Given the description of an element on the screen output the (x, y) to click on. 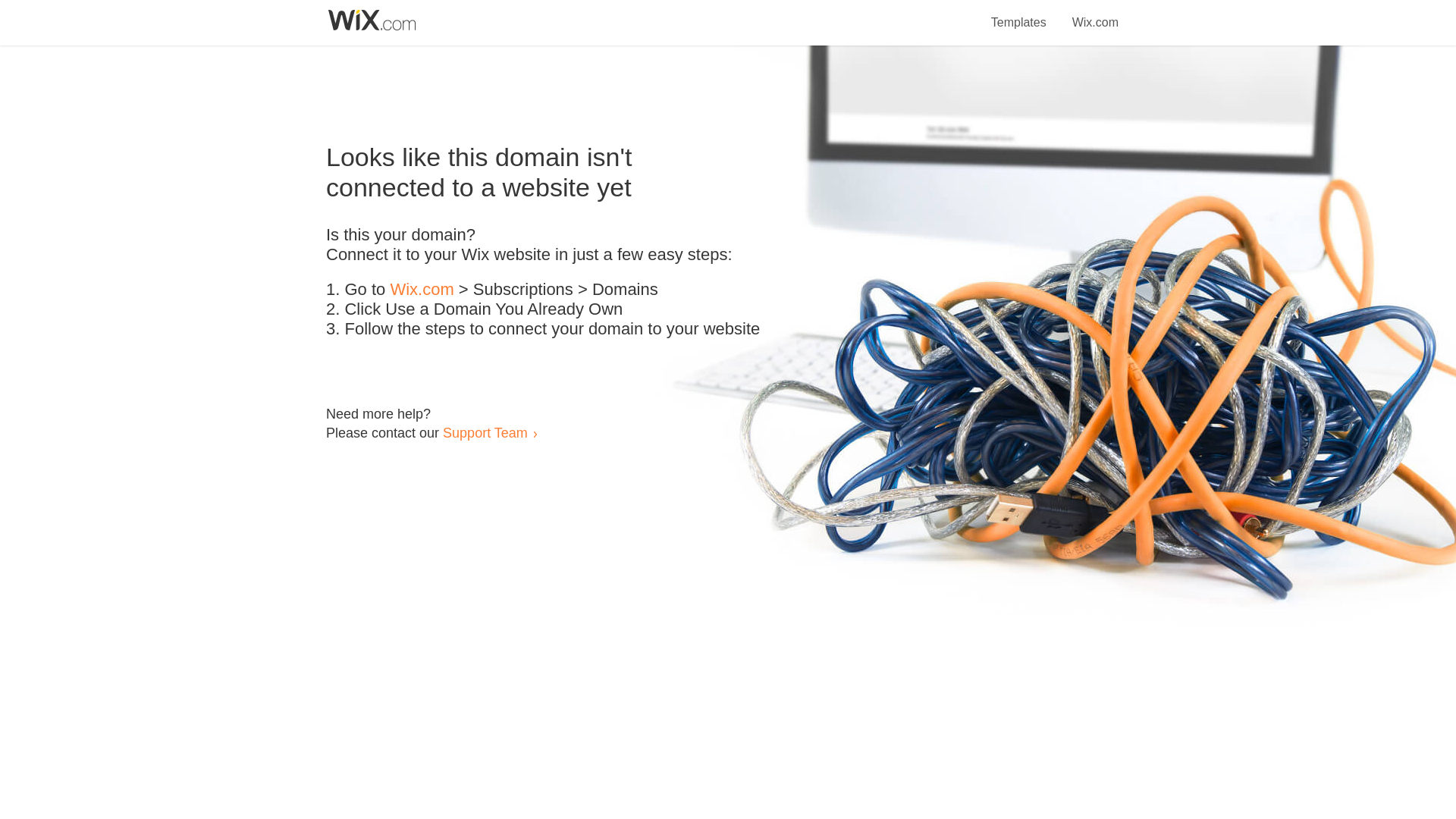
Support Team (484, 432)
Templates (1018, 14)
Wix.com (421, 289)
Wix.com (1095, 14)
